Given the description of an element on the screen output the (x, y) to click on. 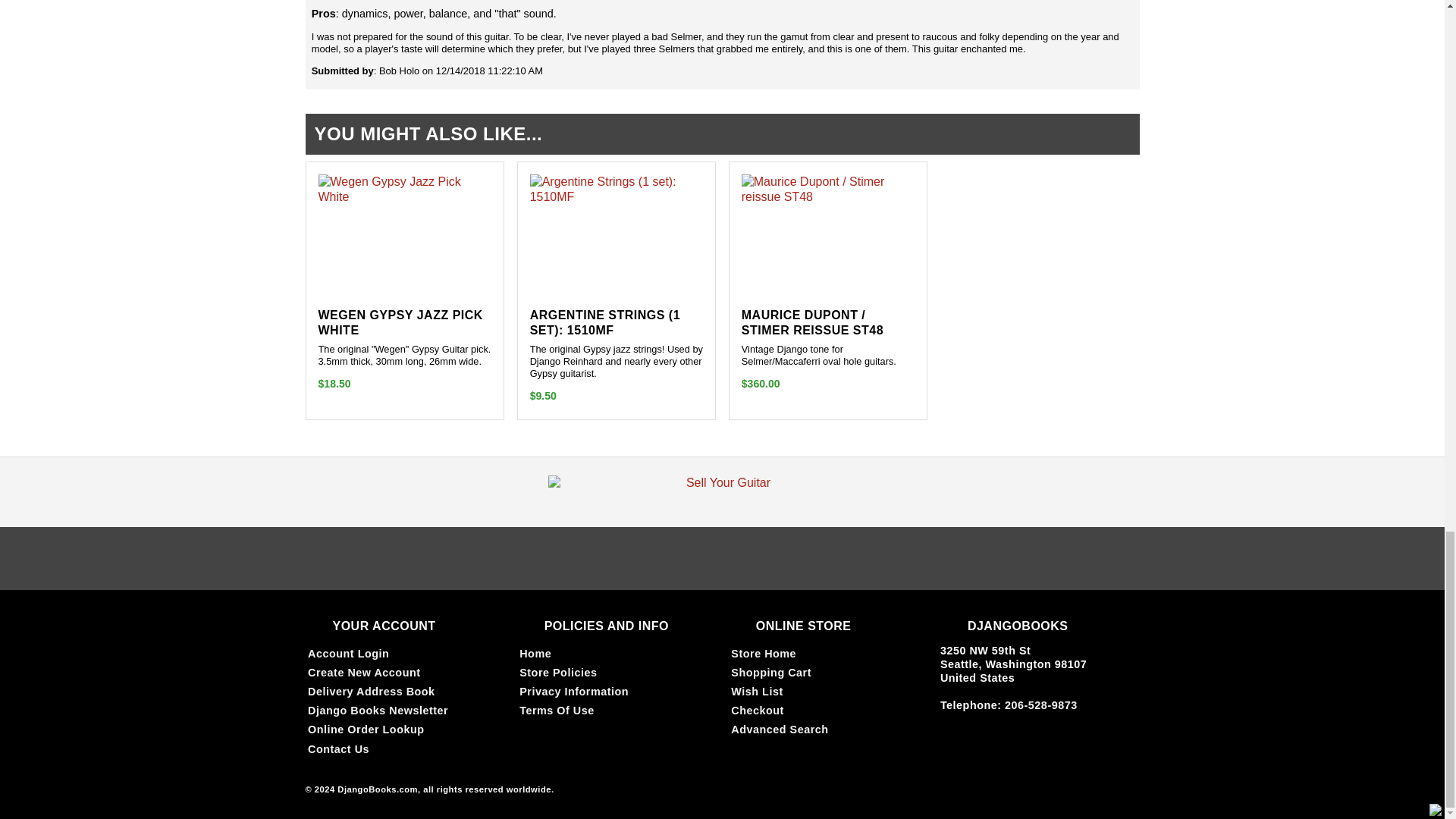
Wegen Gypsy Jazz Pick White (400, 322)
Wegen Gypsy Jazz Pick White (405, 189)
WEGEN GYPSY JAZZ PICK WHITE (400, 322)
